Given the description of an element on the screen output the (x, y) to click on. 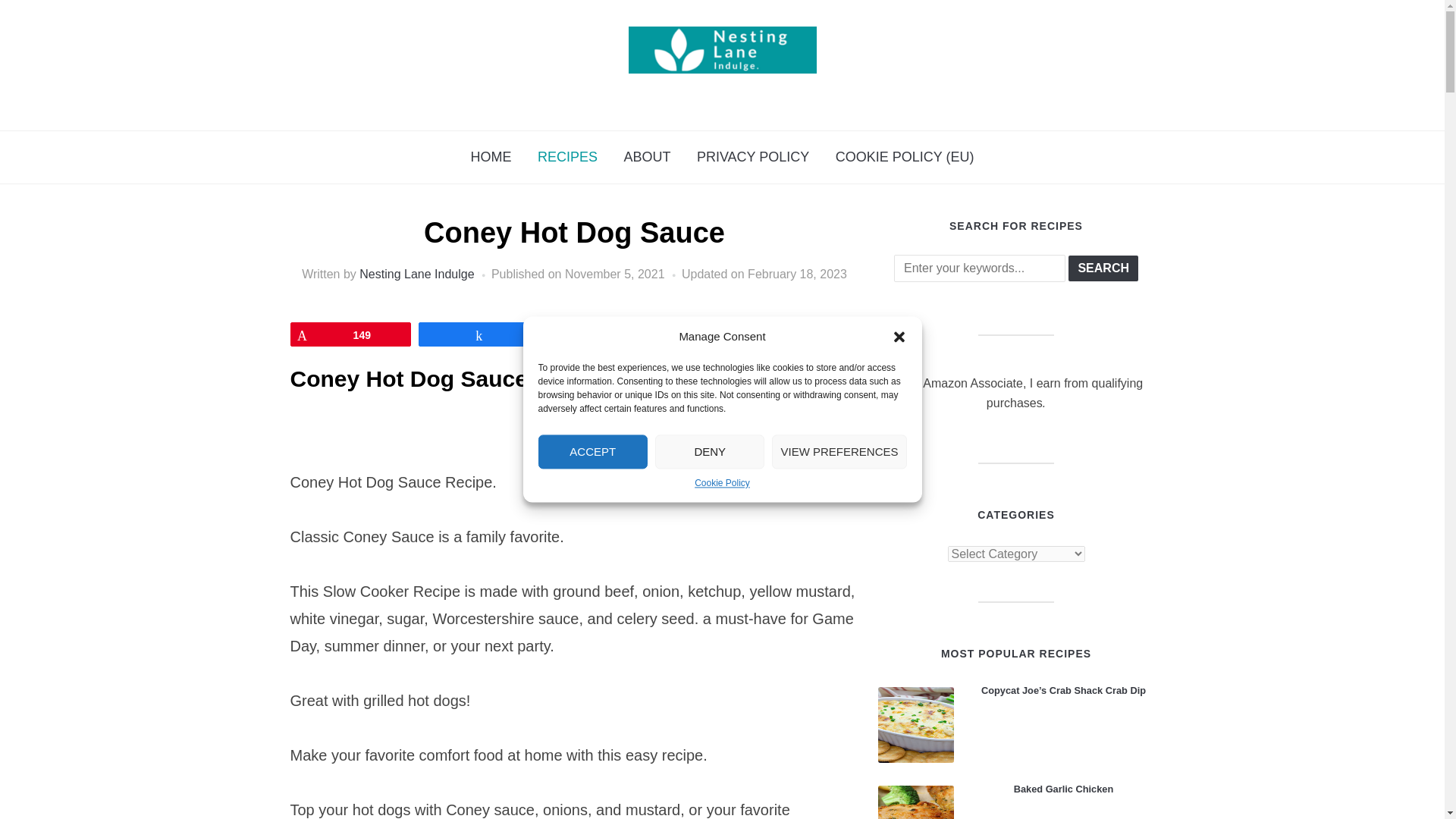
Search (1103, 268)
ACCEPT (592, 451)
HOME (491, 157)
Cookie Policy (721, 482)
Search (1103, 268)
PRIVACY POLICY (753, 157)
DENY (709, 451)
RECIPES (566, 157)
Baked Garlic Chicken (915, 802)
ABOUT (646, 157)
VIEW PREFERENCES (838, 451)
Posts by Nesting Lane Indulge (416, 273)
